Given the description of an element on the screen output the (x, y) to click on. 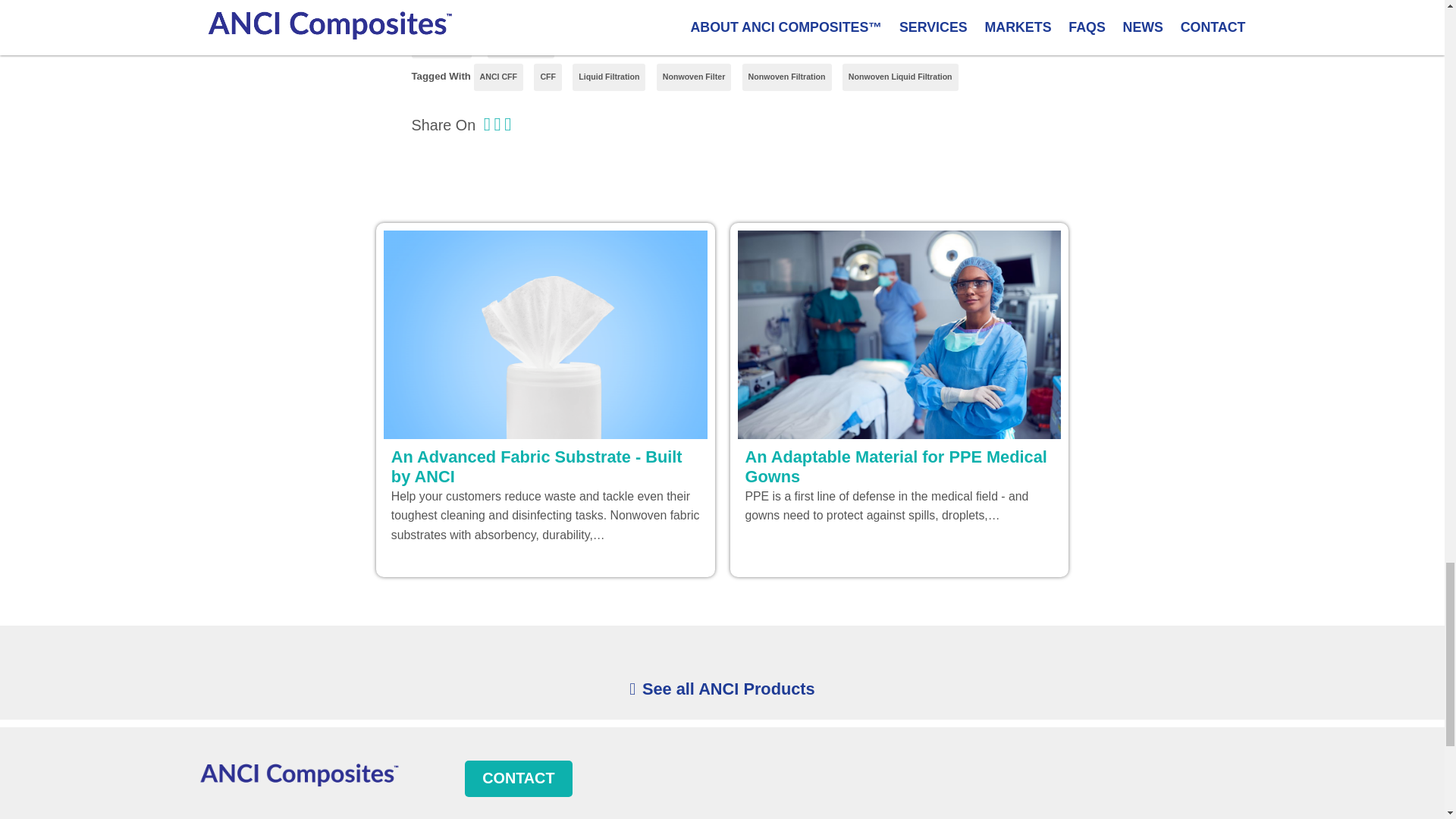
CFF (548, 76)
Liquid Filtration (608, 76)
ANCI CFF (499, 76)
An Adaptable Material for PPE Medical Gowns (898, 466)
See all ANCI Products (720, 688)
Featured (440, 44)
An Advanced Fabric Substrate - Built by ANCI (545, 466)
Nonwoven Filtration (786, 76)
Nonwoven Filter (694, 76)
Nonwoven Liquid Filtration (900, 76)
nonwoven (520, 44)
